Given the description of an element on the screen output the (x, y) to click on. 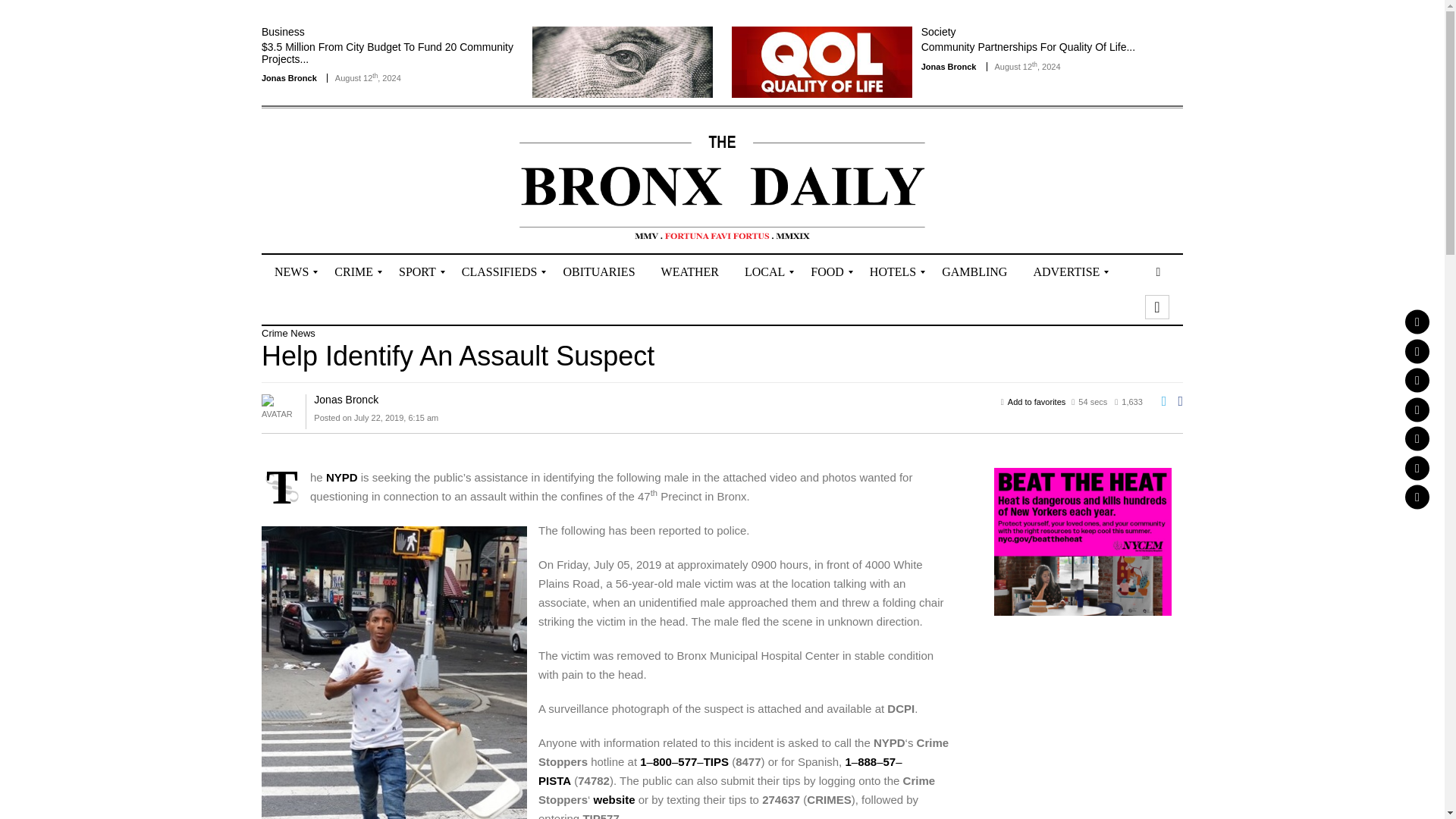
Community Partnerships For Quality Of Life (822, 60)
Jonas Bronck (289, 77)
Posts by Jonas Bronck (346, 399)
Posts by Jonas Bronck (948, 66)
Community Partnerships For Quality Of Life (1028, 46)
Business (283, 31)
Advertisement (350, 181)
View all posts in Society (938, 31)
Add to favorites (1036, 401)
Community Partnerships For Quality Of Life... (1028, 46)
